Given the description of an element on the screen output the (x, y) to click on. 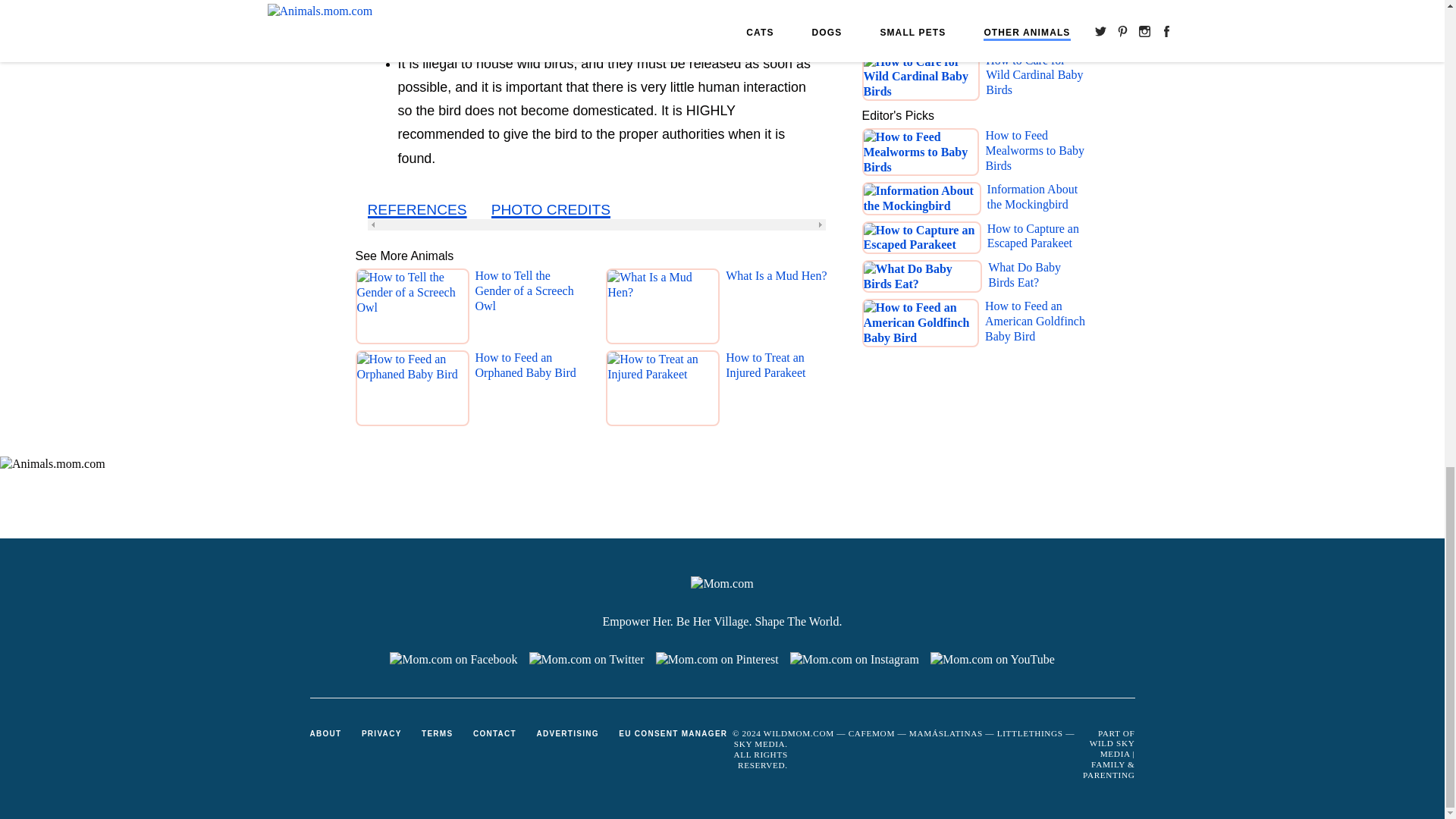
How to Treat an Injured Parakeet (781, 391)
What Is a Mud Hen? (776, 309)
How to Feed an Orphaned Baby Bird (530, 391)
How to Tell the Gender of a Screech Owl (530, 309)
